Given the description of an element on the screen output the (x, y) to click on. 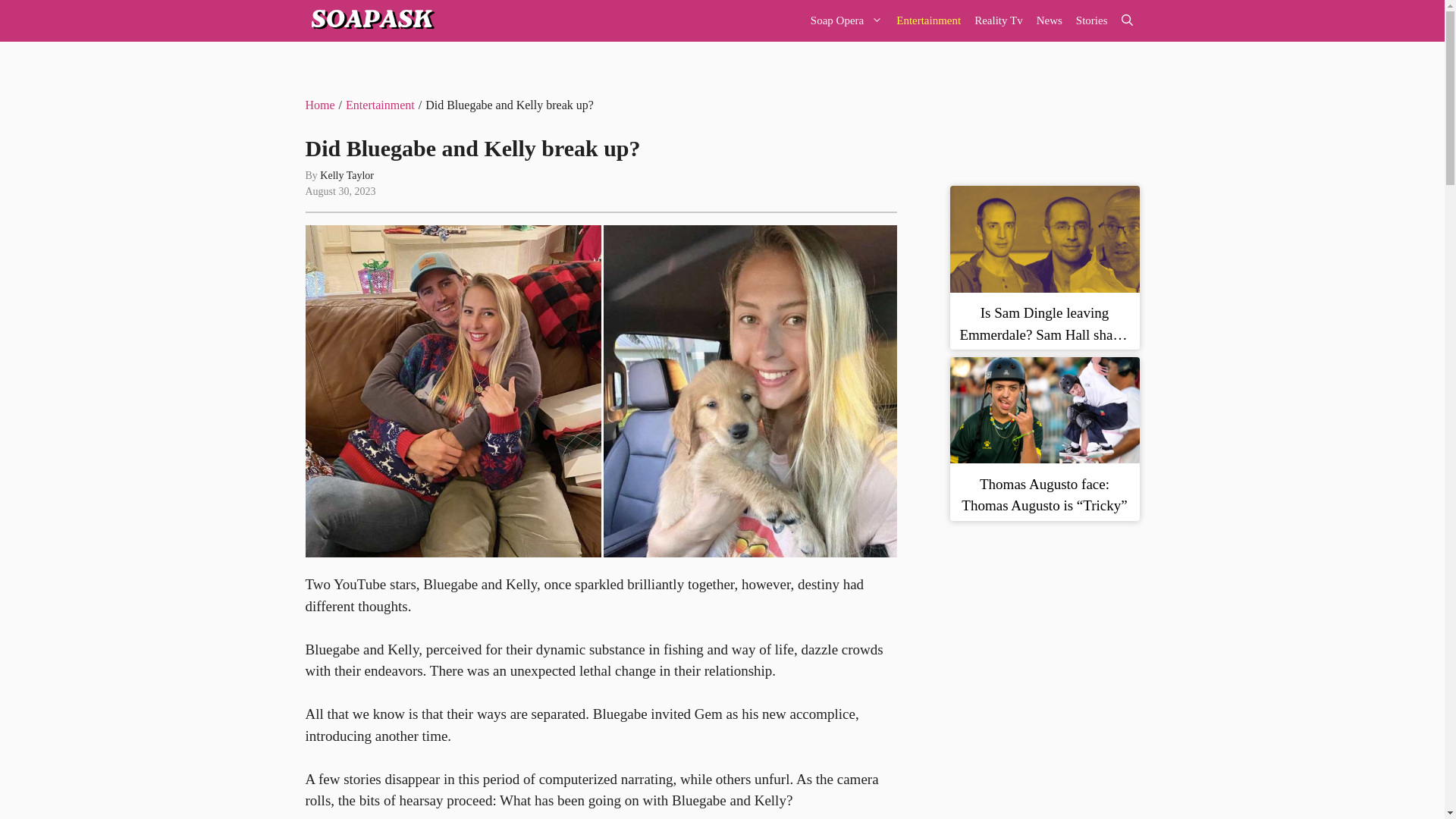
Soap Opera (846, 20)
View all posts by Kelly Taylor (347, 174)
SoapAsk (370, 20)
